Given the description of an element on the screen output the (x, y) to click on. 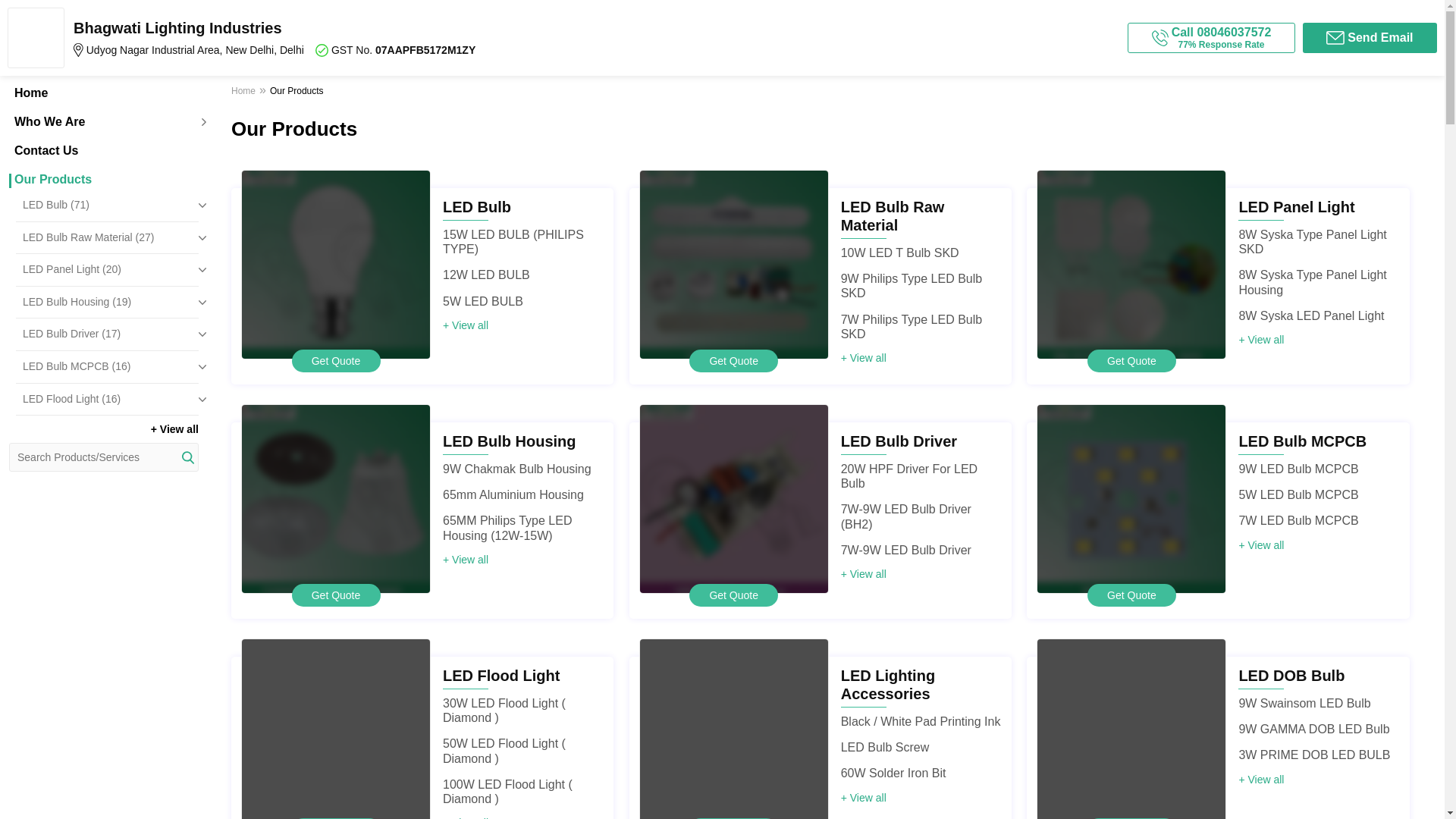
Home (103, 92)
Contact Us (103, 150)
Who We Are (103, 121)
Our Products (103, 179)
